Given the description of an element on the screen output the (x, y) to click on. 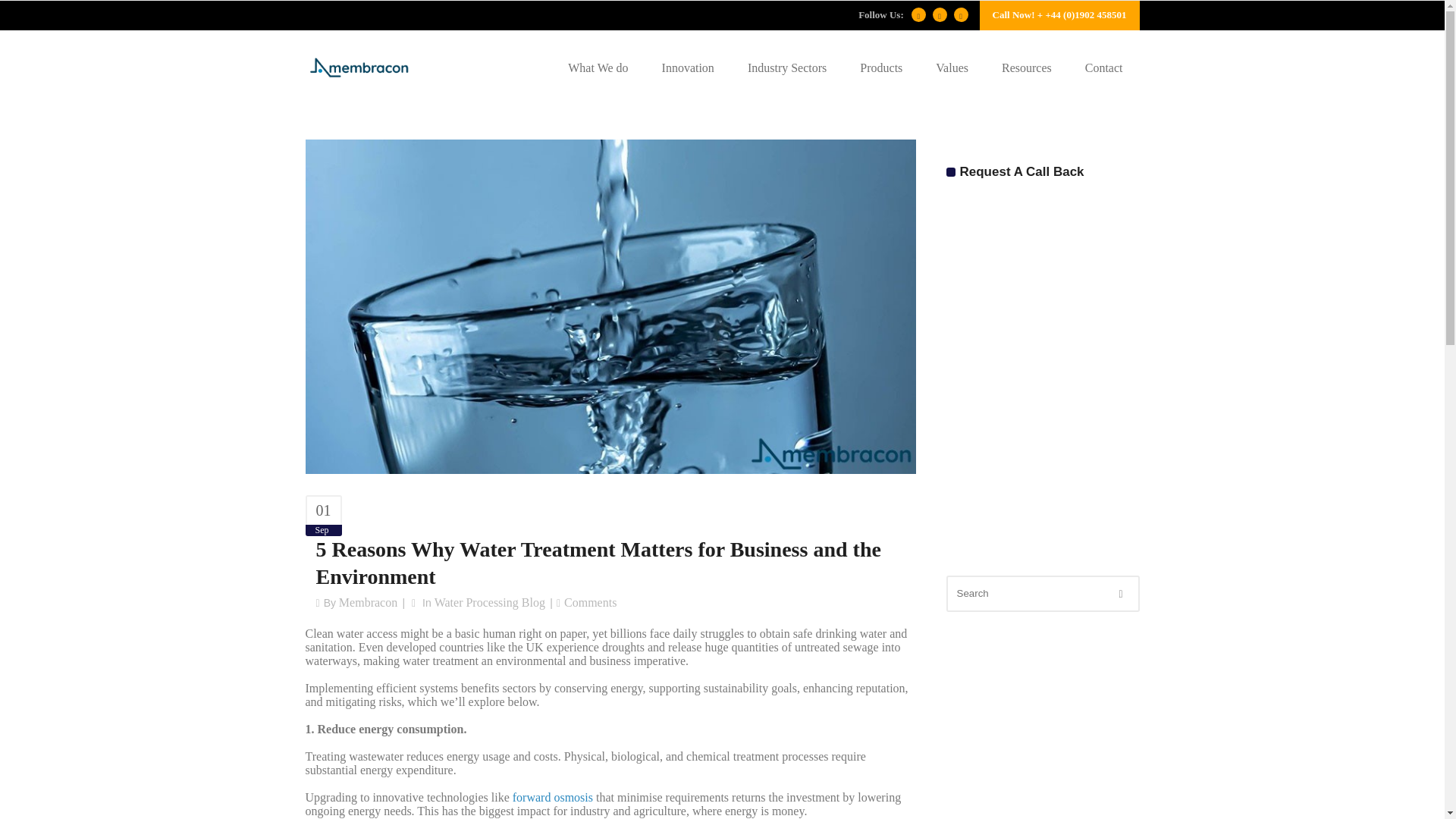
Innovation (687, 68)
What We do (598, 68)
